Given the description of an element on the screen output the (x, y) to click on. 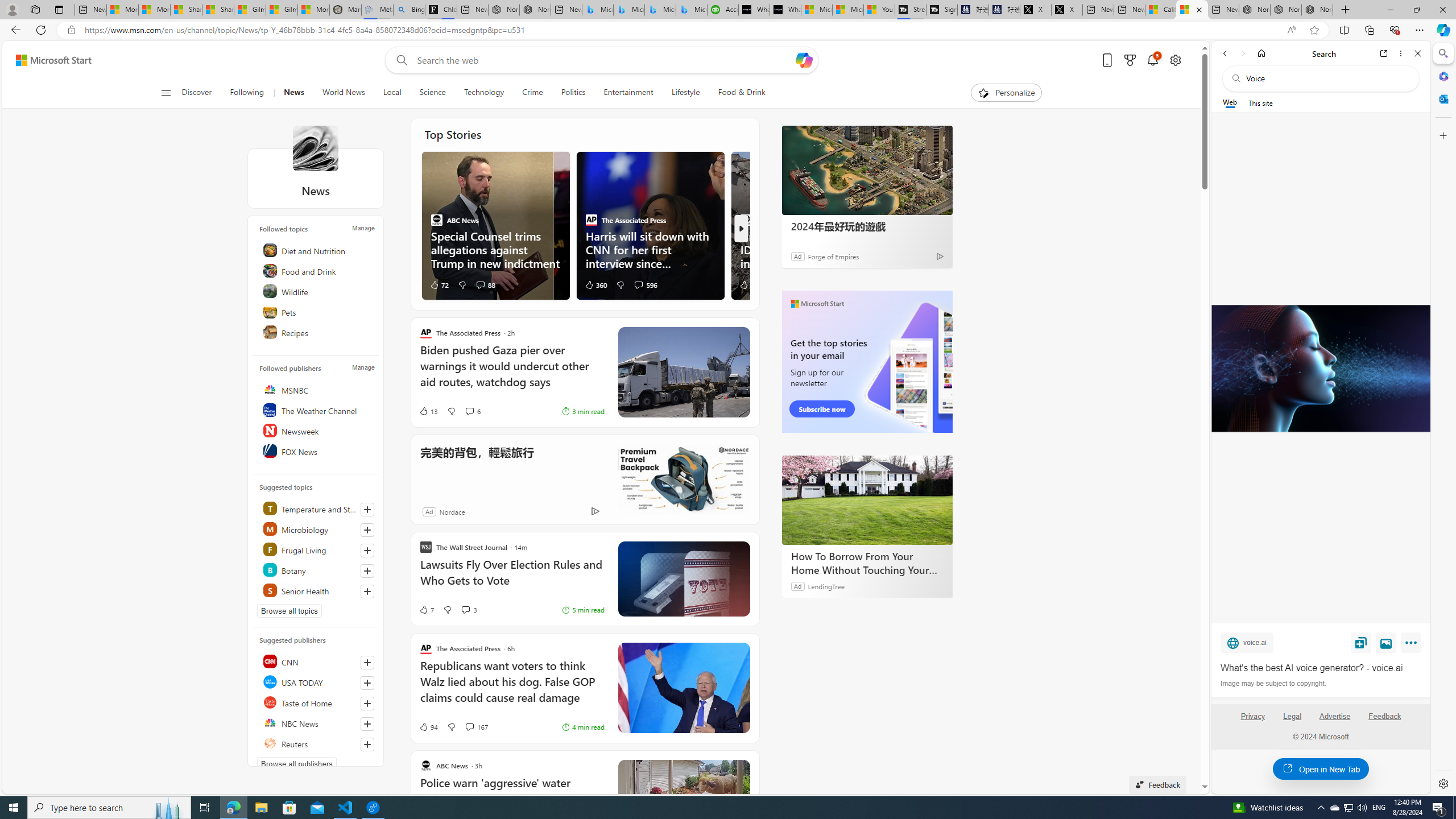
Enter your search term (603, 59)
How To Borrow From Your Home Without Touching Your Mortgage (866, 499)
Browse all topics (289, 610)
Image may be subject to copyright. (1273, 682)
View comments 3 Comment (465, 609)
View comments 596 Comment (638, 284)
Web scope (1230, 102)
Skip to content (49, 59)
Accounting Software for Accountants, CPAs and Bookkeepers (722, 9)
Forward (1242, 53)
View comments 6 Comment (472, 410)
Politics (573, 92)
USA TODAY (317, 682)
